Given the description of an element on the screen output the (x, y) to click on. 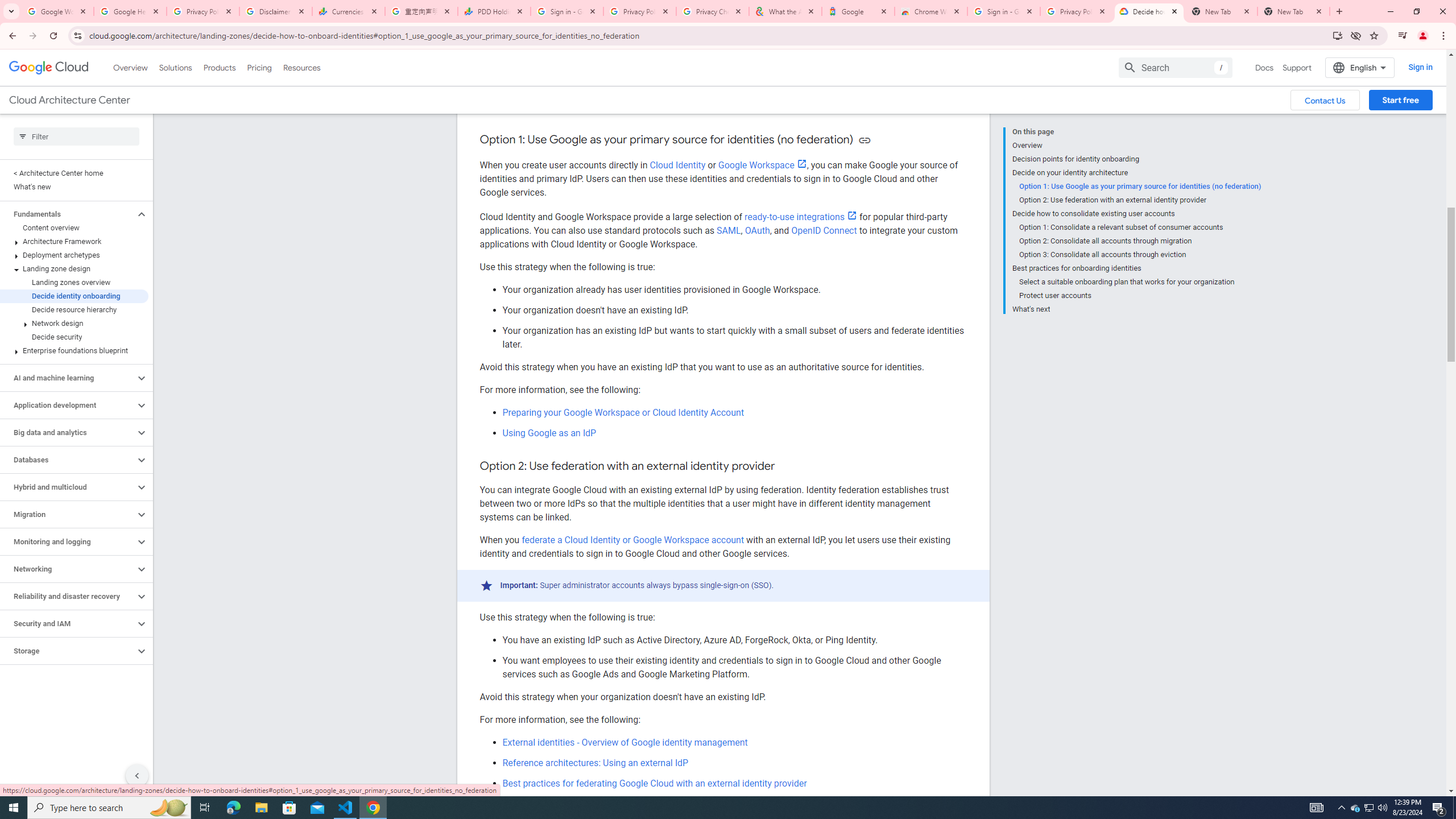
Reliability and disaster recovery (67, 596)
Landing zones overview (74, 282)
Enterprise foundations blueprint (74, 350)
Deployment archetypes (74, 255)
Docs, selected (1264, 67)
Pricing (259, 67)
Start free (1400, 100)
Content overview (74, 228)
Products (218, 67)
Using Google as an IdP (549, 432)
OpenID Connect (823, 230)
